Given the description of an element on the screen output the (x, y) to click on. 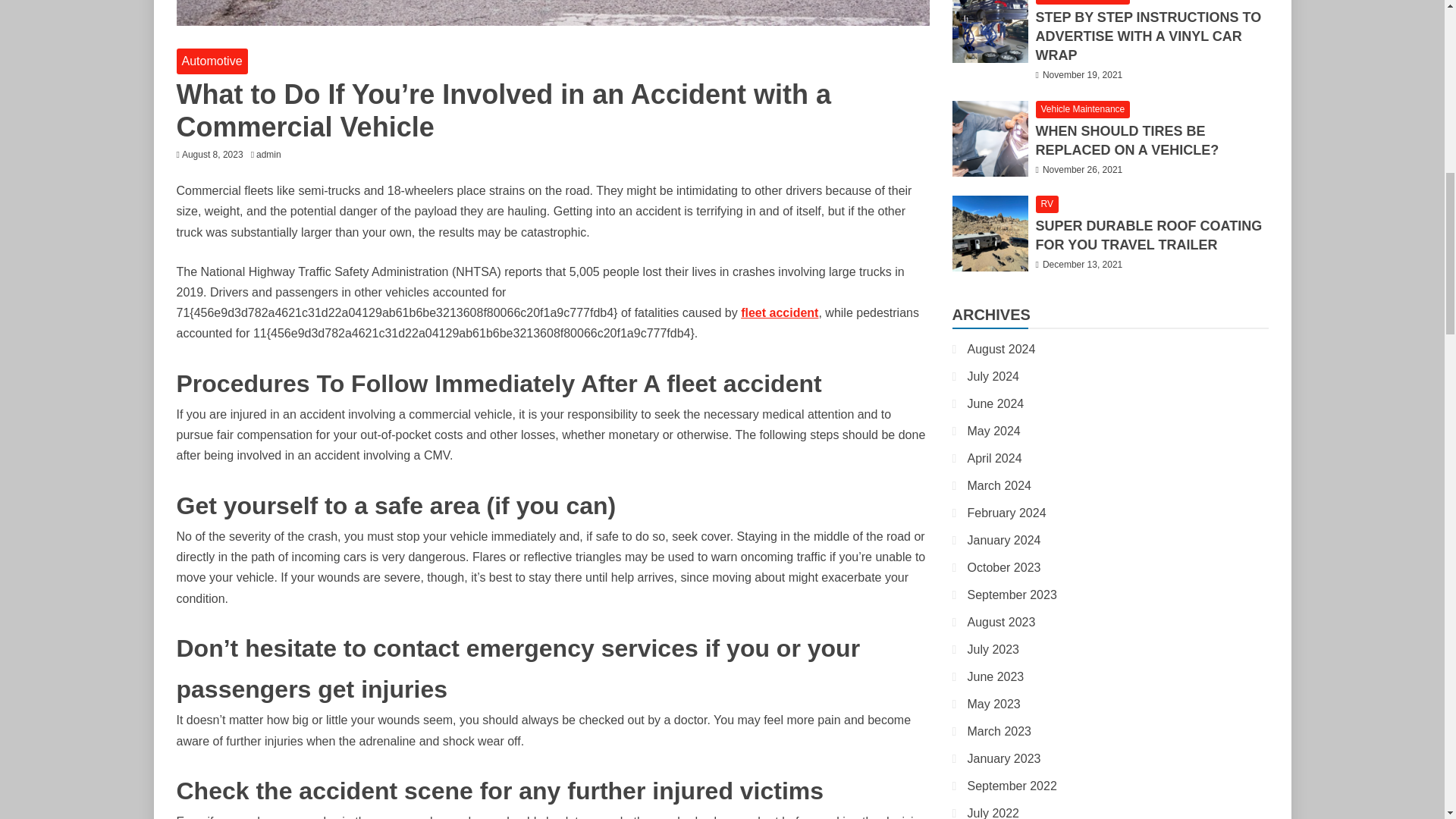
admin (272, 154)
Automotive (211, 60)
fleet accident (779, 312)
August 8, 2023 (212, 154)
